Given the description of an element on the screen output the (x, y) to click on. 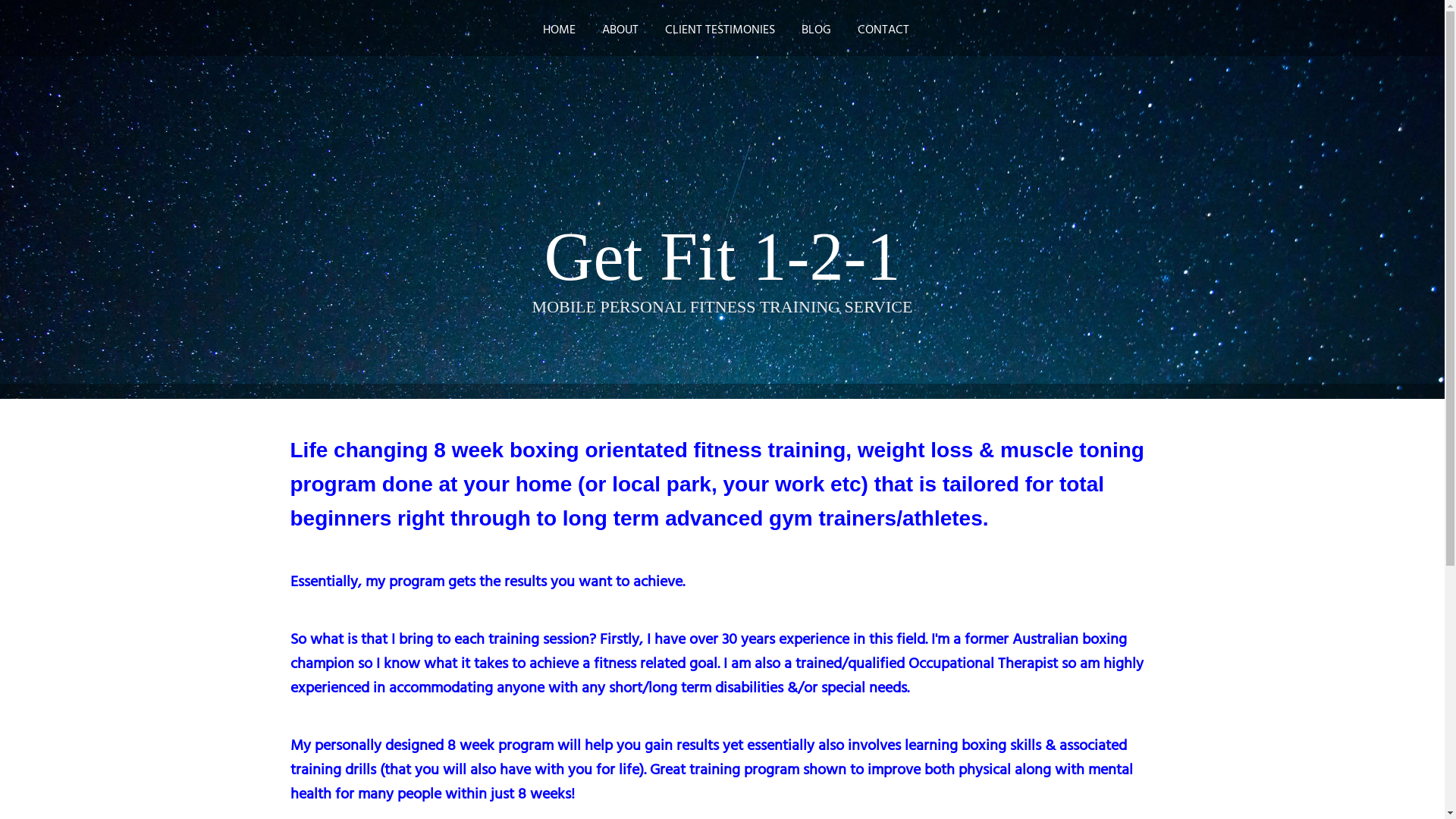
CONTACT Element type: text (879, 29)
ABOUT Element type: text (620, 29)
BLOG Element type: text (815, 29)
CLIENT TESTIMONIES Element type: text (719, 29)
HOME Element type: text (559, 29)
Get Fit 1-2-1 Element type: text (722, 256)
